Given the description of an element on the screen output the (x, y) to click on. 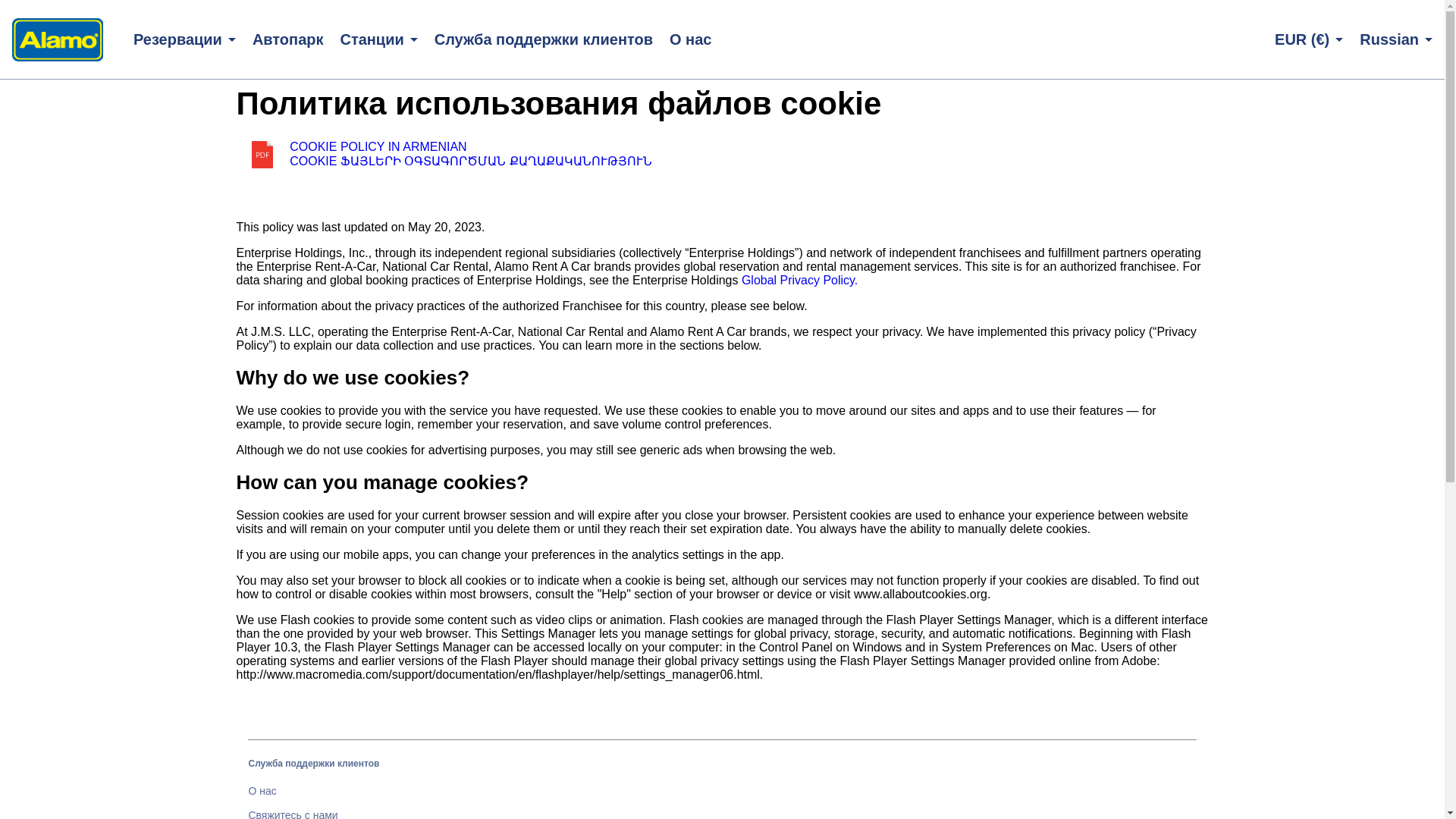
Alamo (57, 39)
COOKIE POLICY IN ARMENIAN (377, 146)
Global Privacy Policy. (799, 279)
Russian (1395, 39)
